Given the description of an element on the screen output the (x, y) to click on. 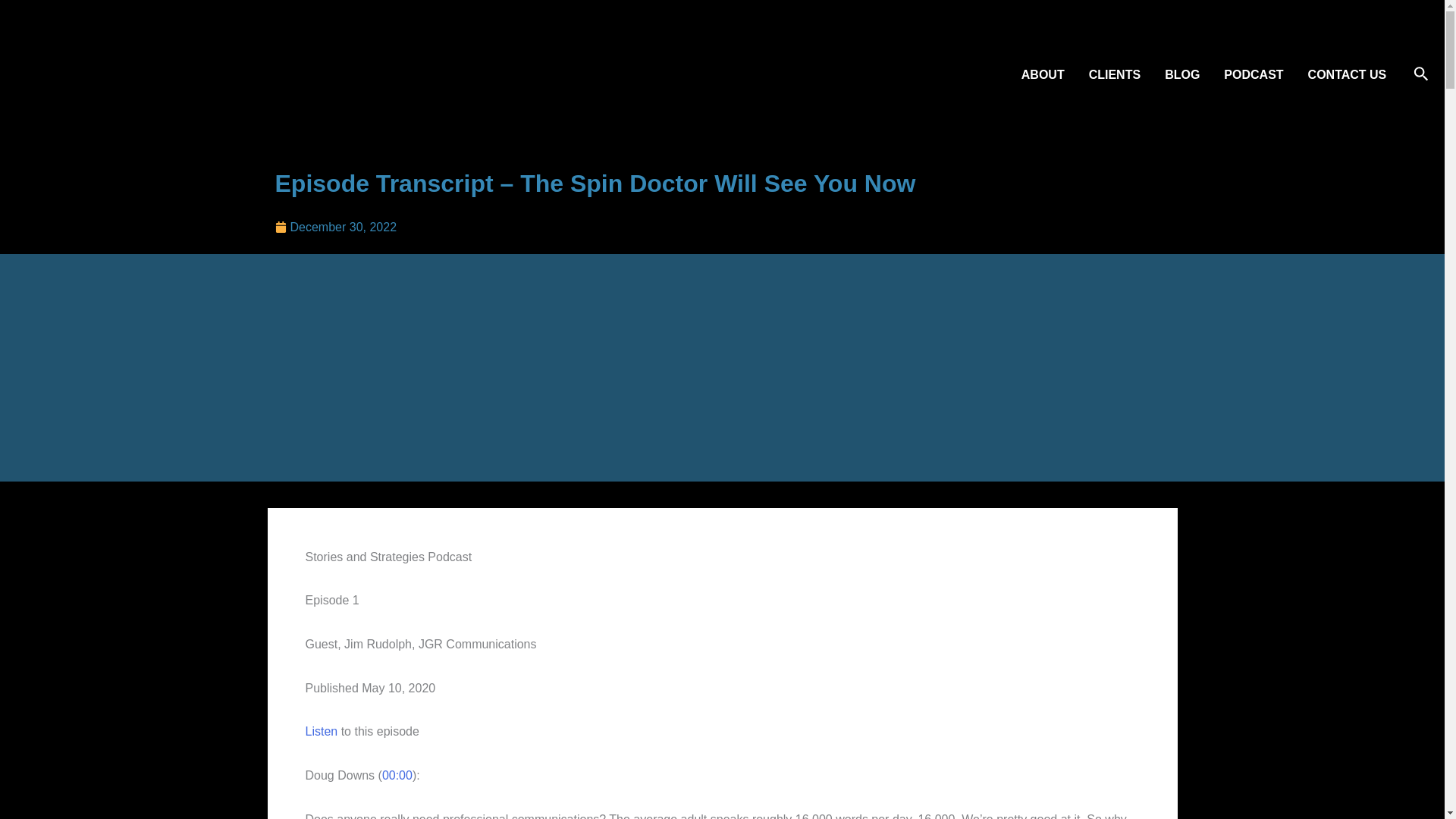
CLIENTS (1115, 74)
BLOG (1182, 74)
PODCAST (1253, 74)
00:00 (396, 775)
December 30, 2022 (335, 227)
ABOUT (1043, 74)
CONTACT US (1347, 74)
Listen (320, 730)
